Given the description of an element on the screen output the (x, y) to click on. 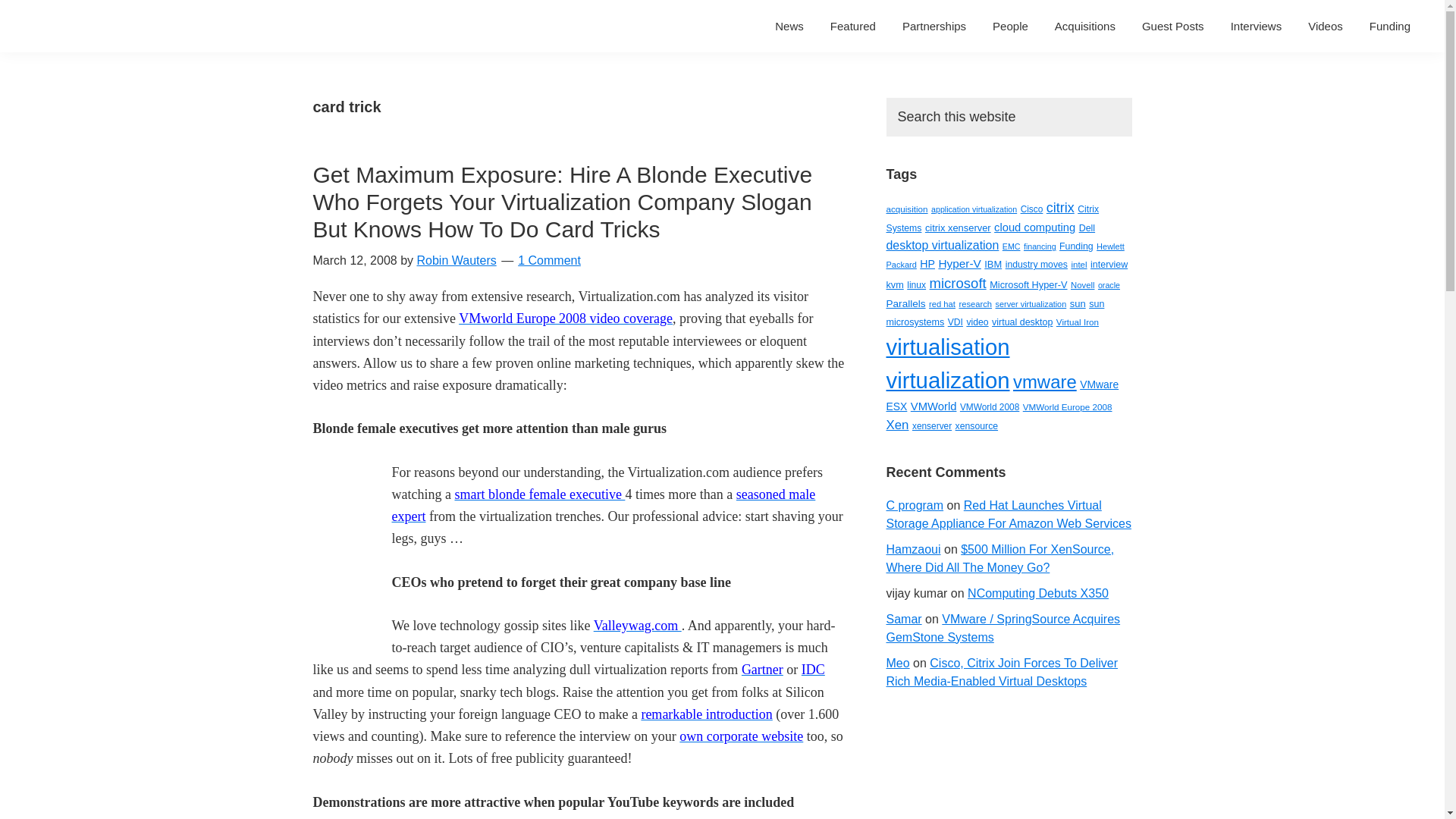
Funding (1390, 25)
News (788, 25)
Guest Posts (1173, 25)
own corporate website (741, 735)
smart blonde female executive (539, 494)
seasoned male expert (603, 505)
Gartner (762, 669)
Partnerships (933, 25)
Veeam Press overview (741, 735)
Interviews (1257, 25)
Valleywag.com (637, 625)
VMworld Europe 2008 video coverage (565, 318)
Veeam CEO at Valleywag (637, 625)
